Given the description of an element on the screen output the (x, y) to click on. 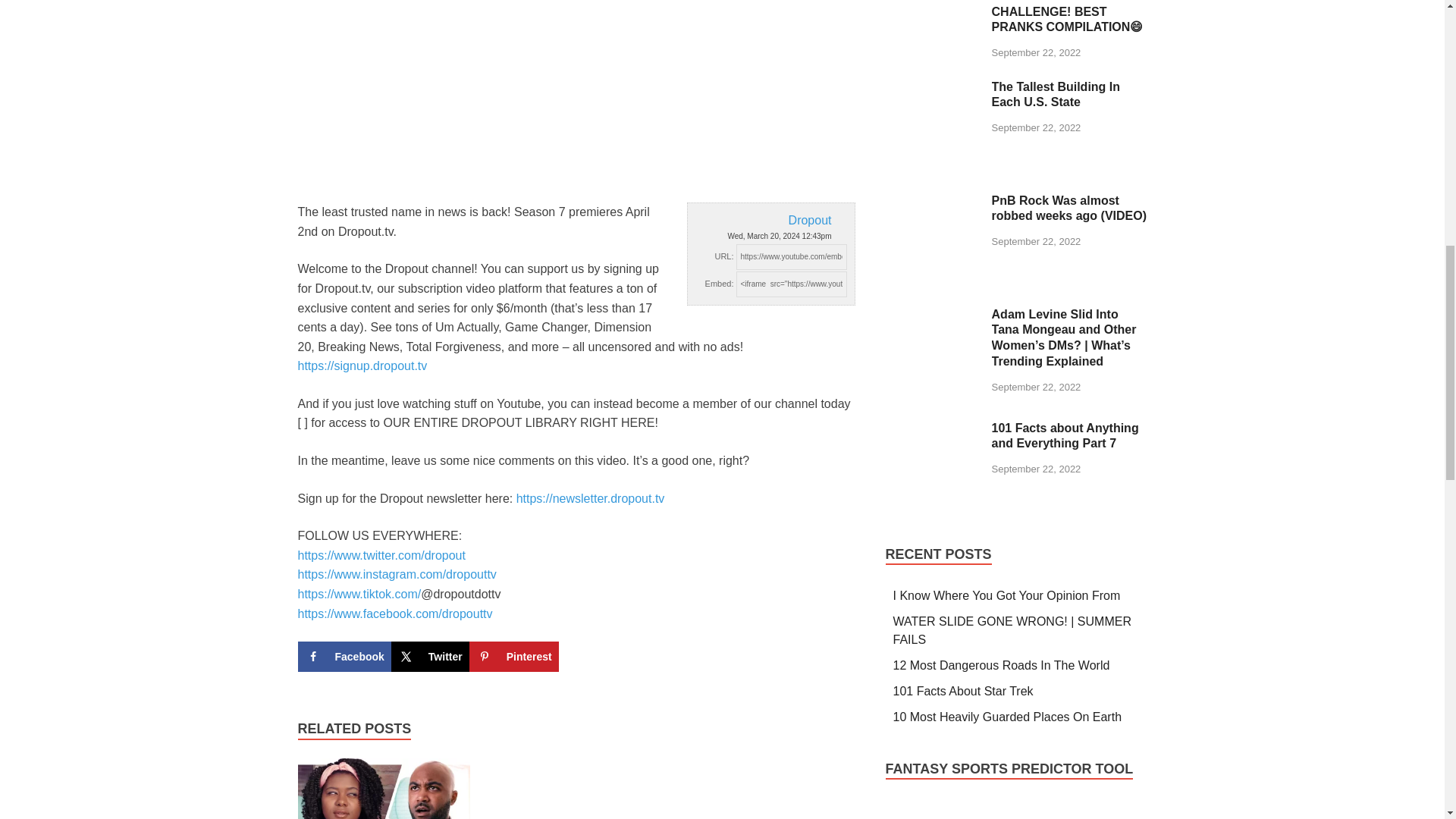
Facebook (343, 656)
Pinterest (513, 656)
Share on X (429, 656)
Share on Facebook (343, 656)
Twitter (429, 656)
Dropout (769, 220)
Save to Pinterest (513, 656)
